Given the description of an element on the screen output the (x, y) to click on. 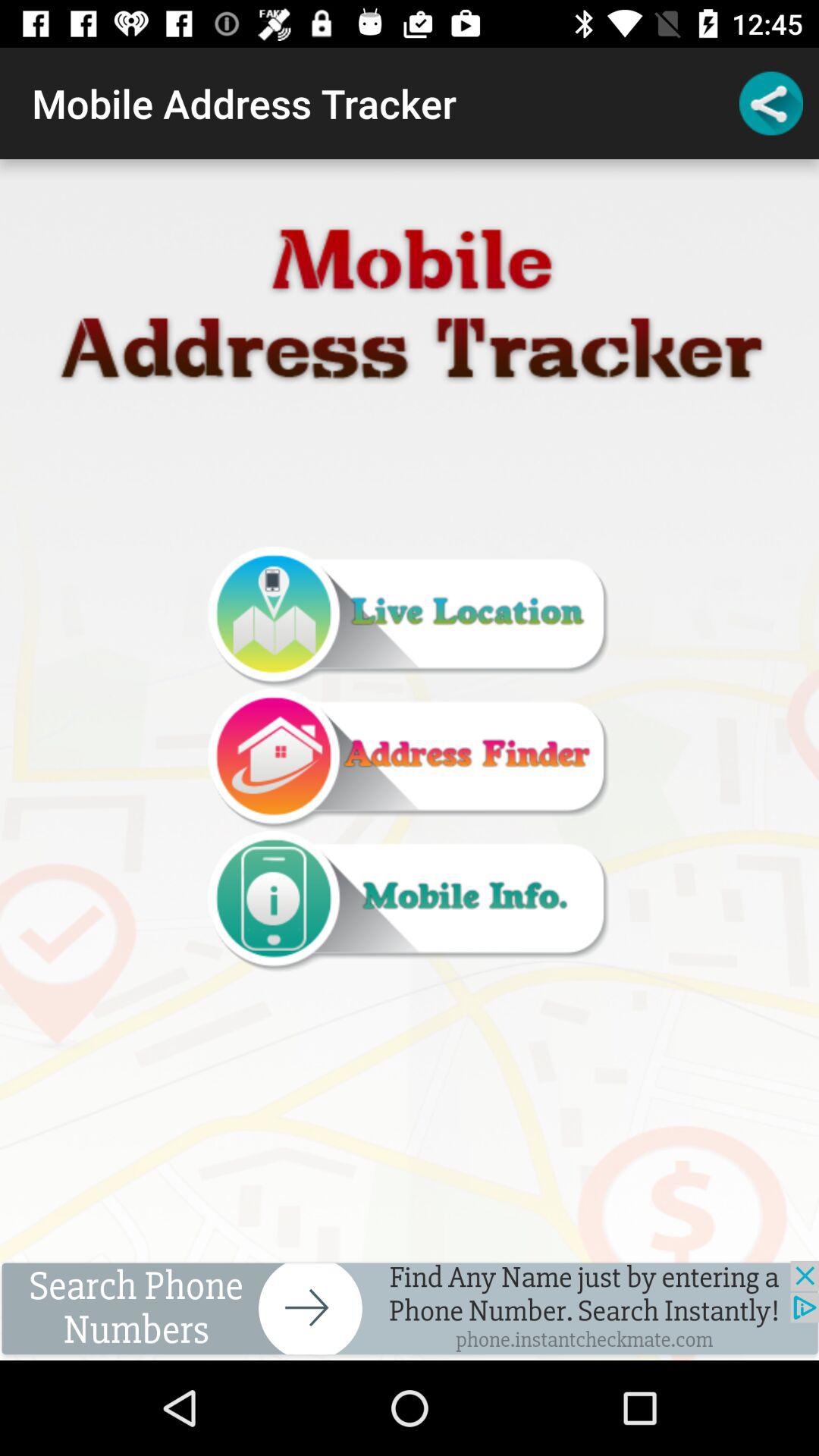
go to item (409, 759)
